Given the description of an element on the screen output the (x, y) to click on. 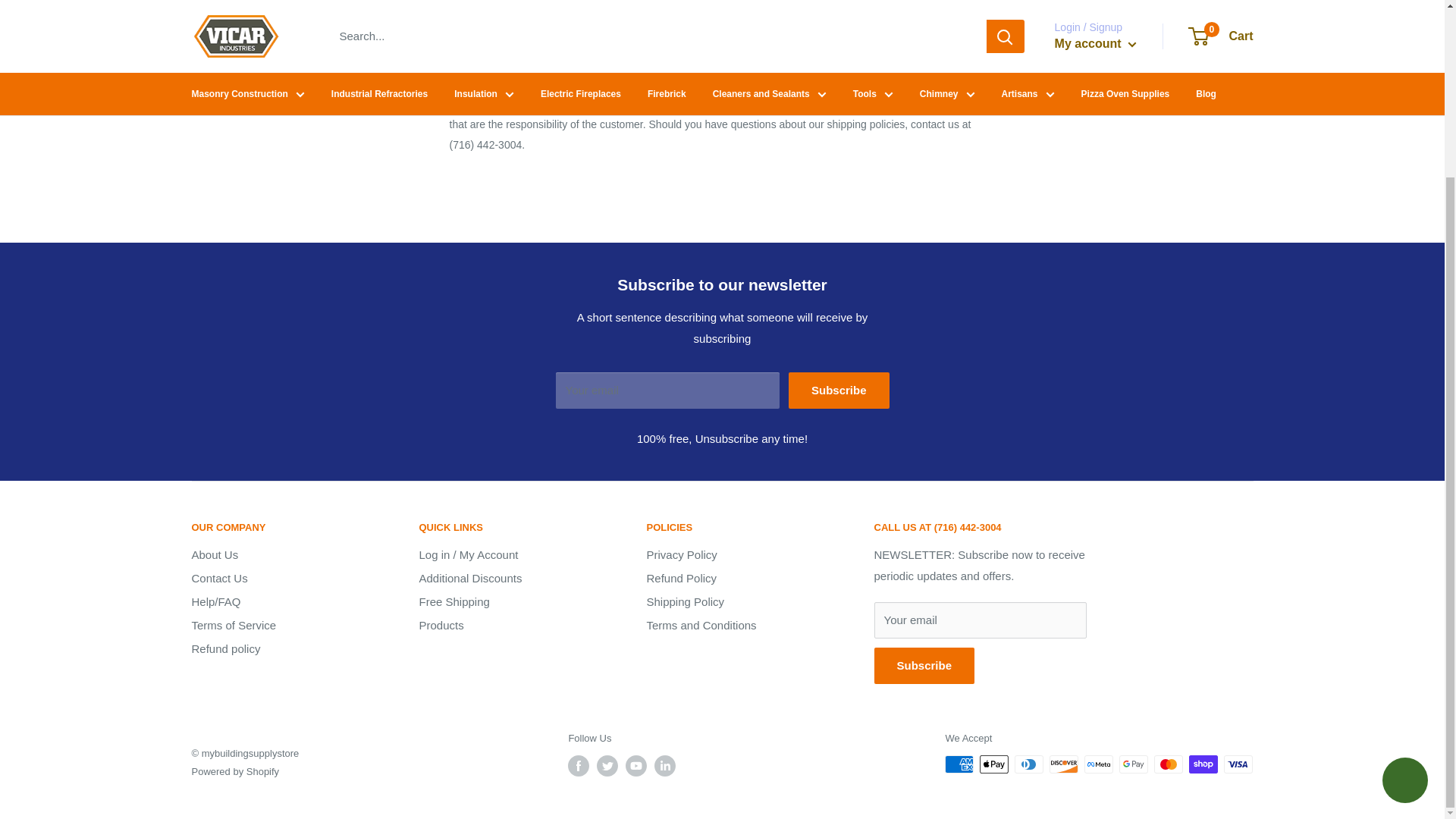
Shopify online store chat (1404, 566)
